Given the description of an element on the screen output the (x, y) to click on. 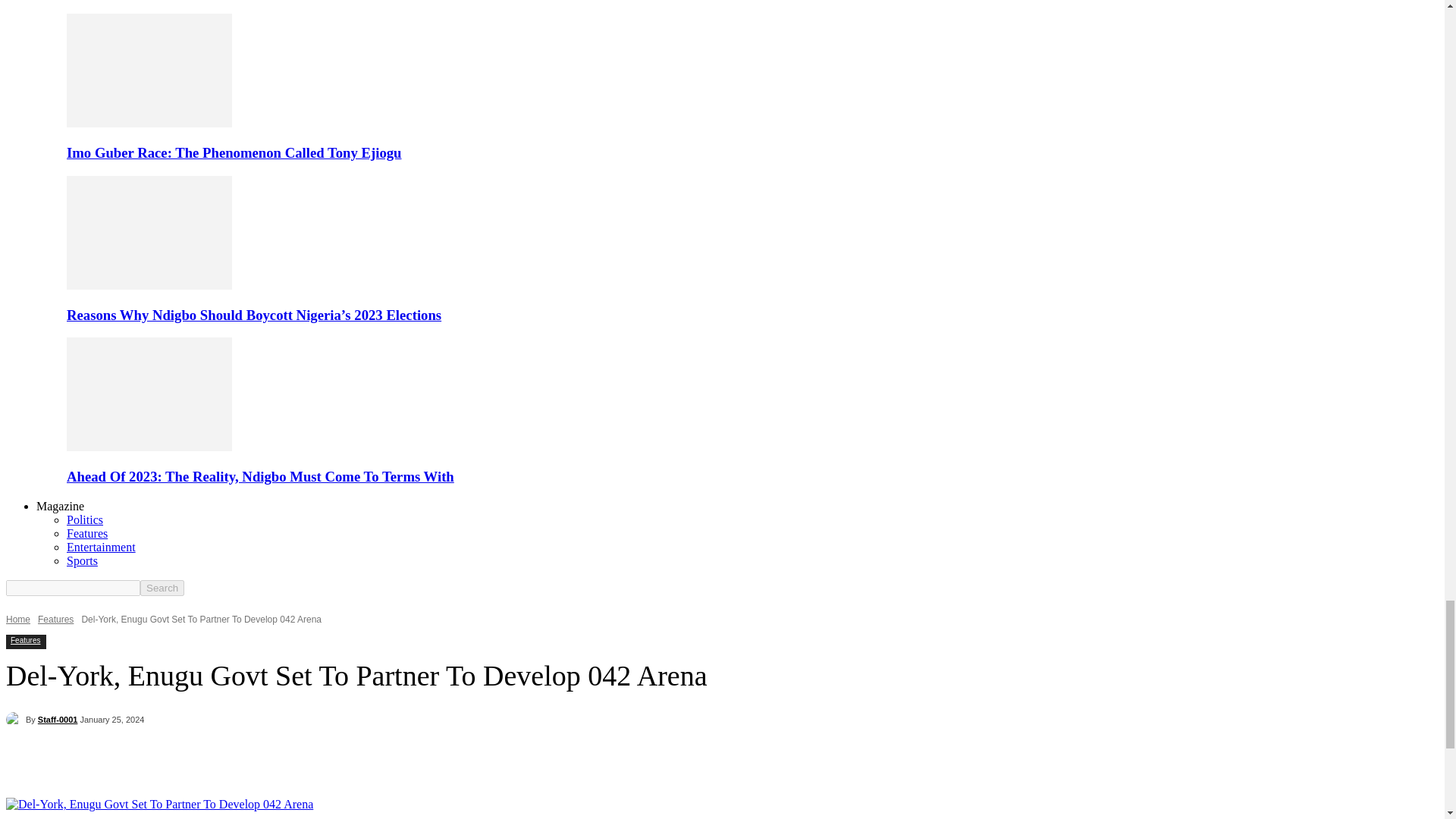
Search (161, 587)
